Given the description of an element on the screen output the (x, y) to click on. 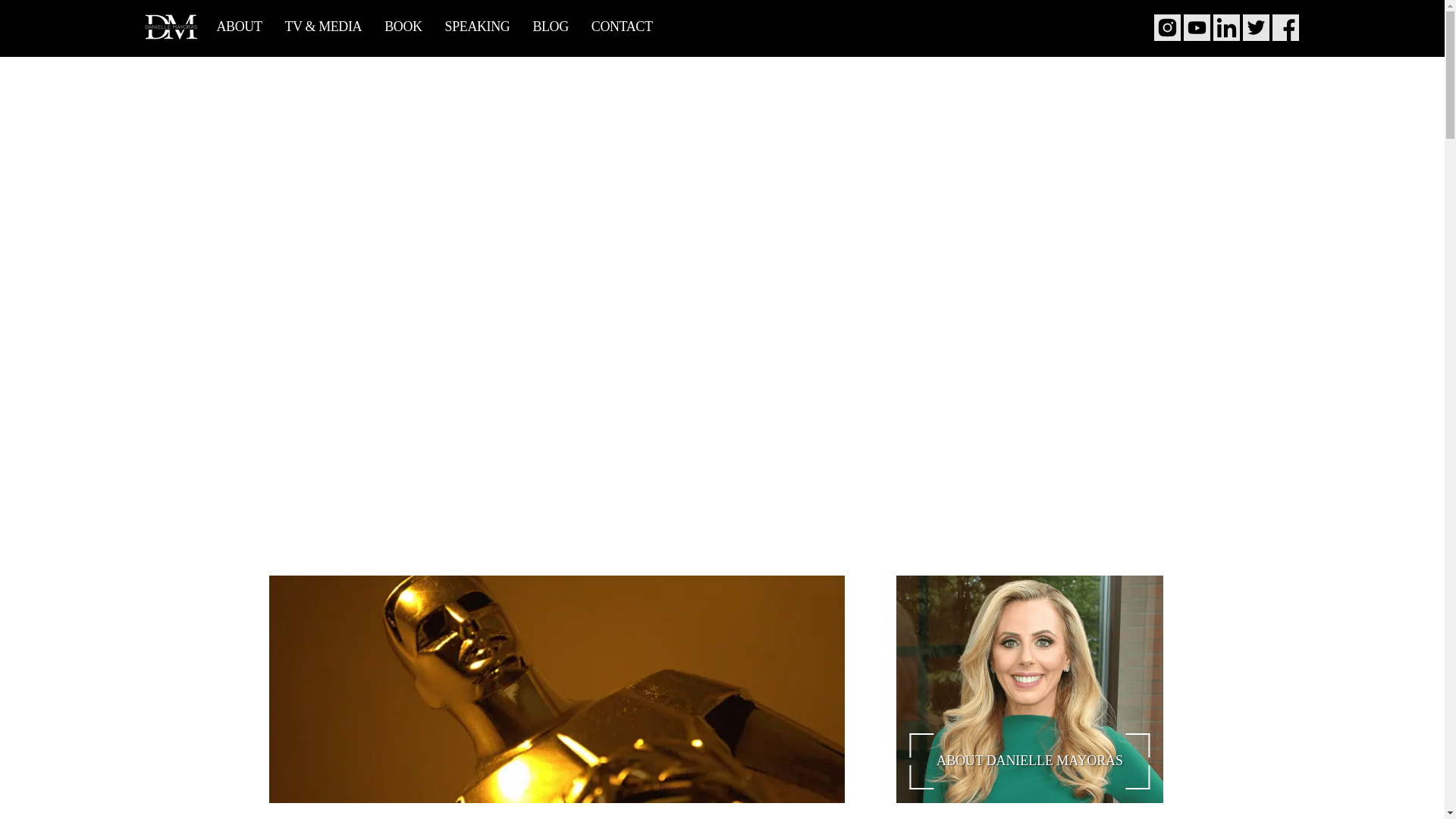
BLOG (549, 26)
CONTACT (622, 26)
BOOK (403, 26)
ABOUT (242, 26)
SPEAKING (478, 26)
